Given the description of an element on the screen output the (x, y) to click on. 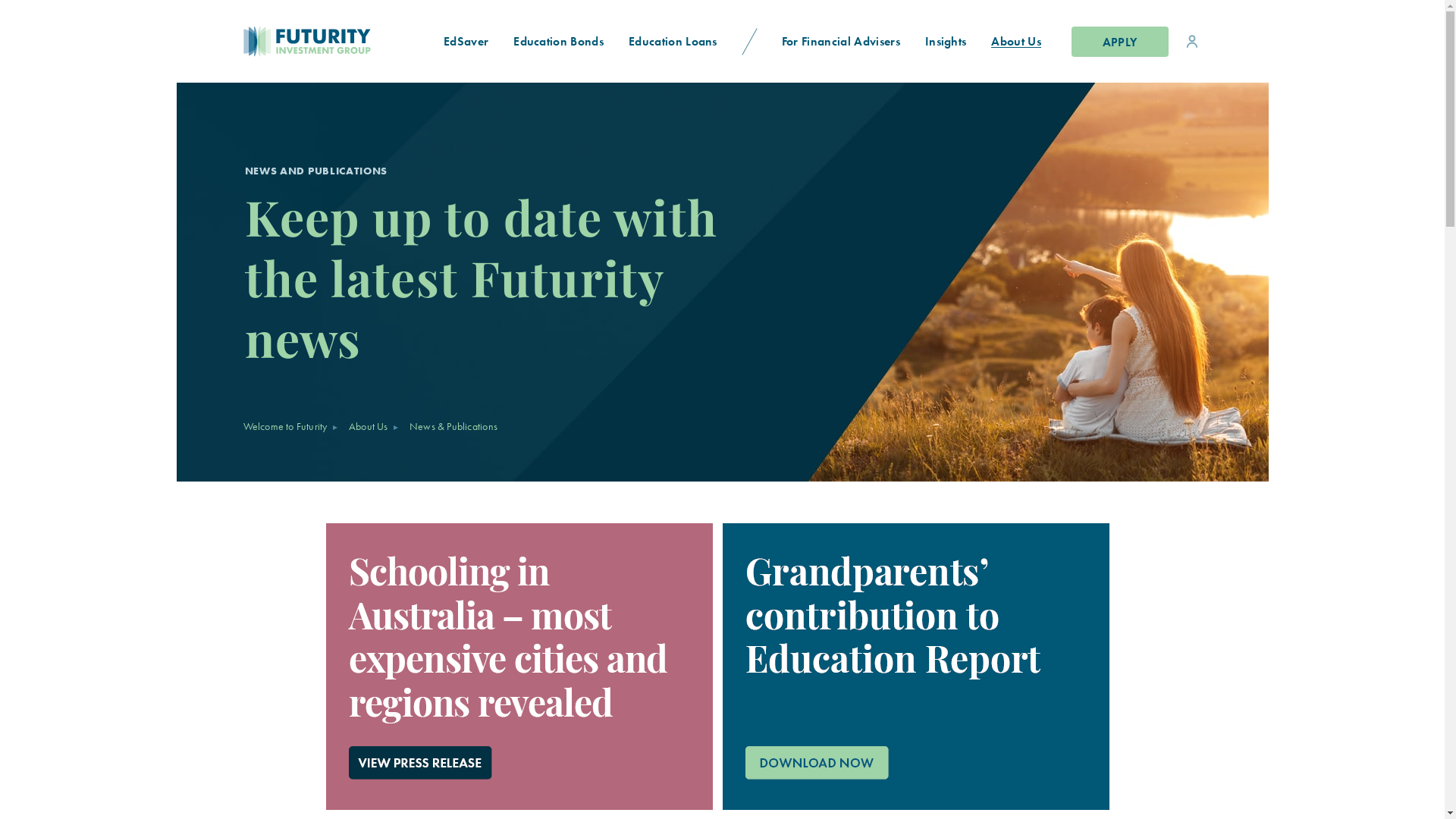
About Us Element type: text (368, 426)
Education Bonds Element type: text (558, 40)
APPLY Element type: text (1118, 40)
For Financial Advisers Element type: text (840, 40)
Futurity | Investment Group Element type: hover (255, 41)
Insights Element type: text (945, 40)
Education Loans Element type: text (673, 40)
EdSaver Element type: text (465, 40)
Welcome to Futurity Element type: text (284, 426)
About Us Element type: text (1016, 40)
